Given the description of an element on the screen output the (x, y) to click on. 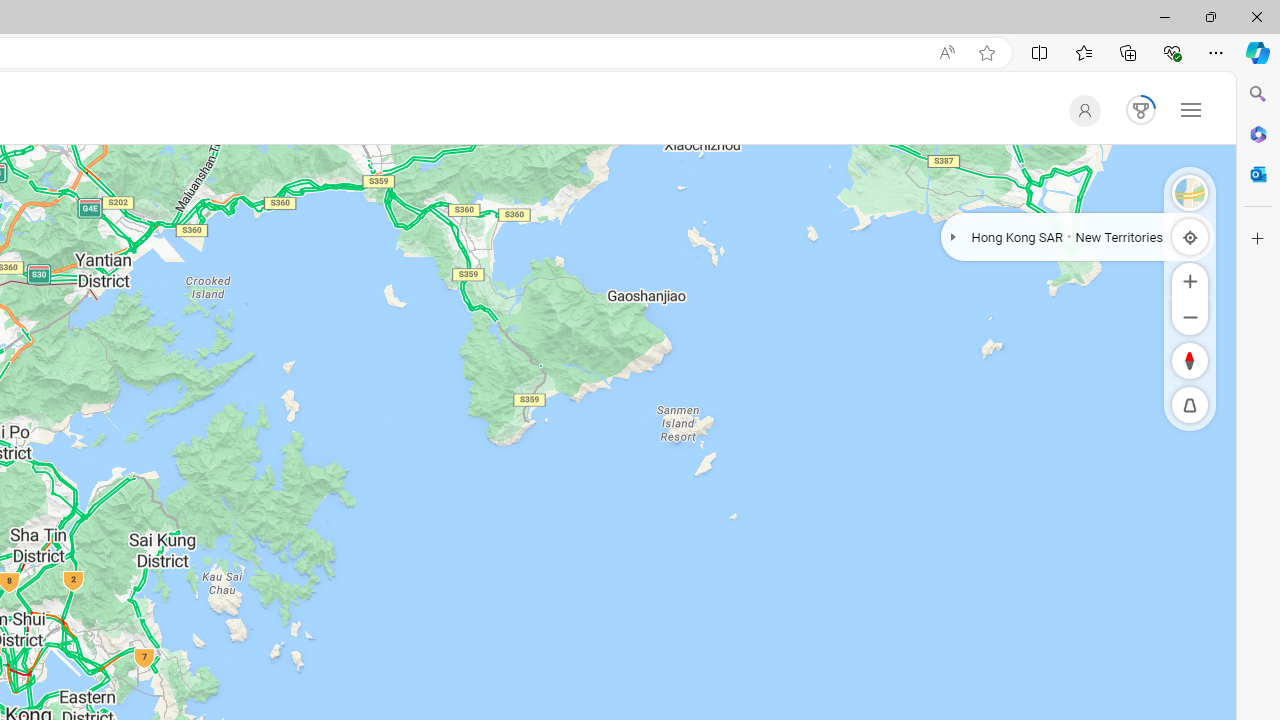
AutomationID: rh_meter (1140, 110)
